Given the description of an element on the screen output the (x, y) to click on. 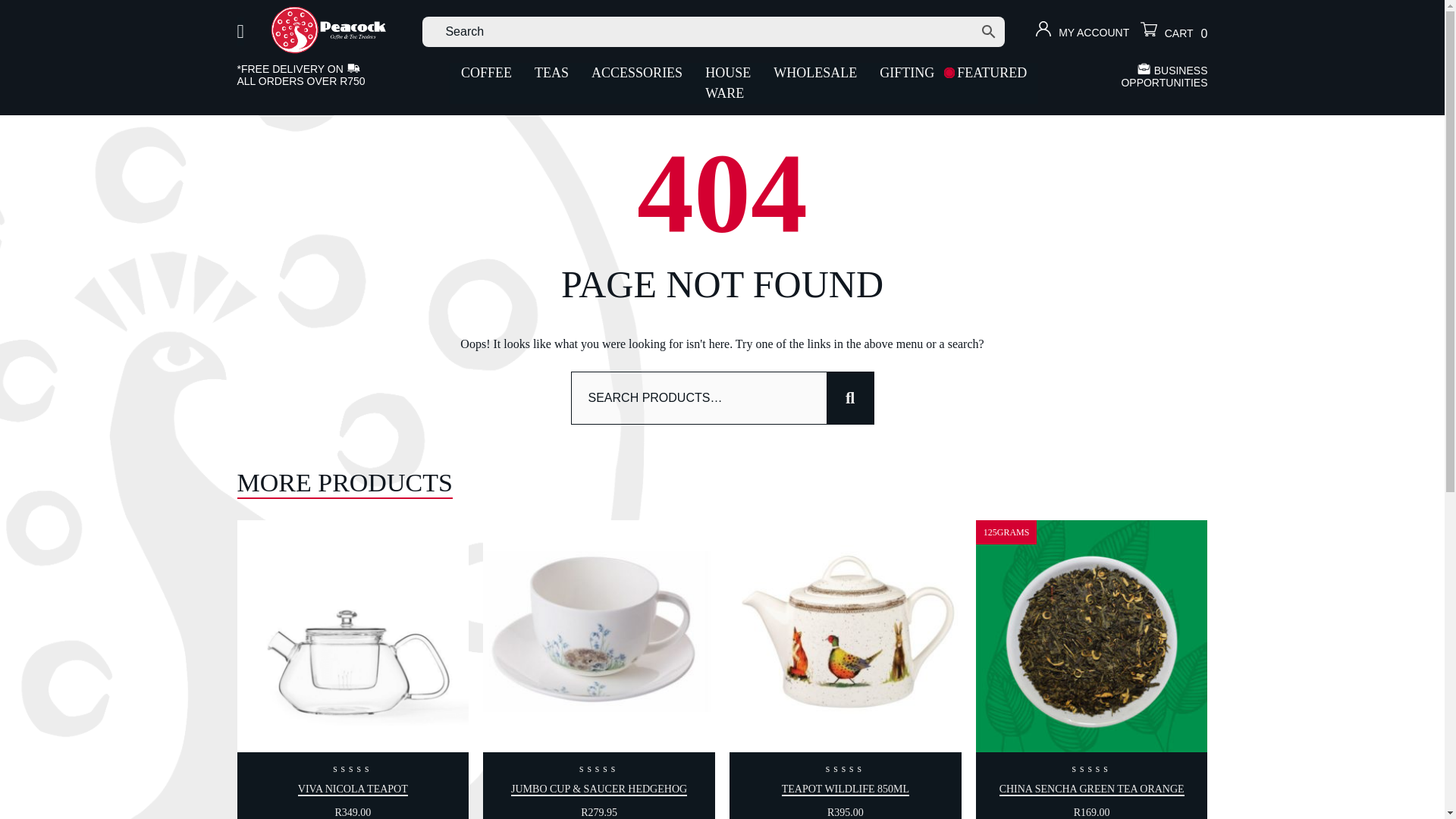
WHOLESALE (814, 73)
COFFEE (485, 73)
TEAS (550, 73)
ACCESSORIES (636, 73)
FEATURED (991, 73)
MY ACCOUNT (1082, 32)
GIFTING (905, 73)
HOUSE WARE (727, 83)
